Given the description of an element on the screen output the (x, y) to click on. 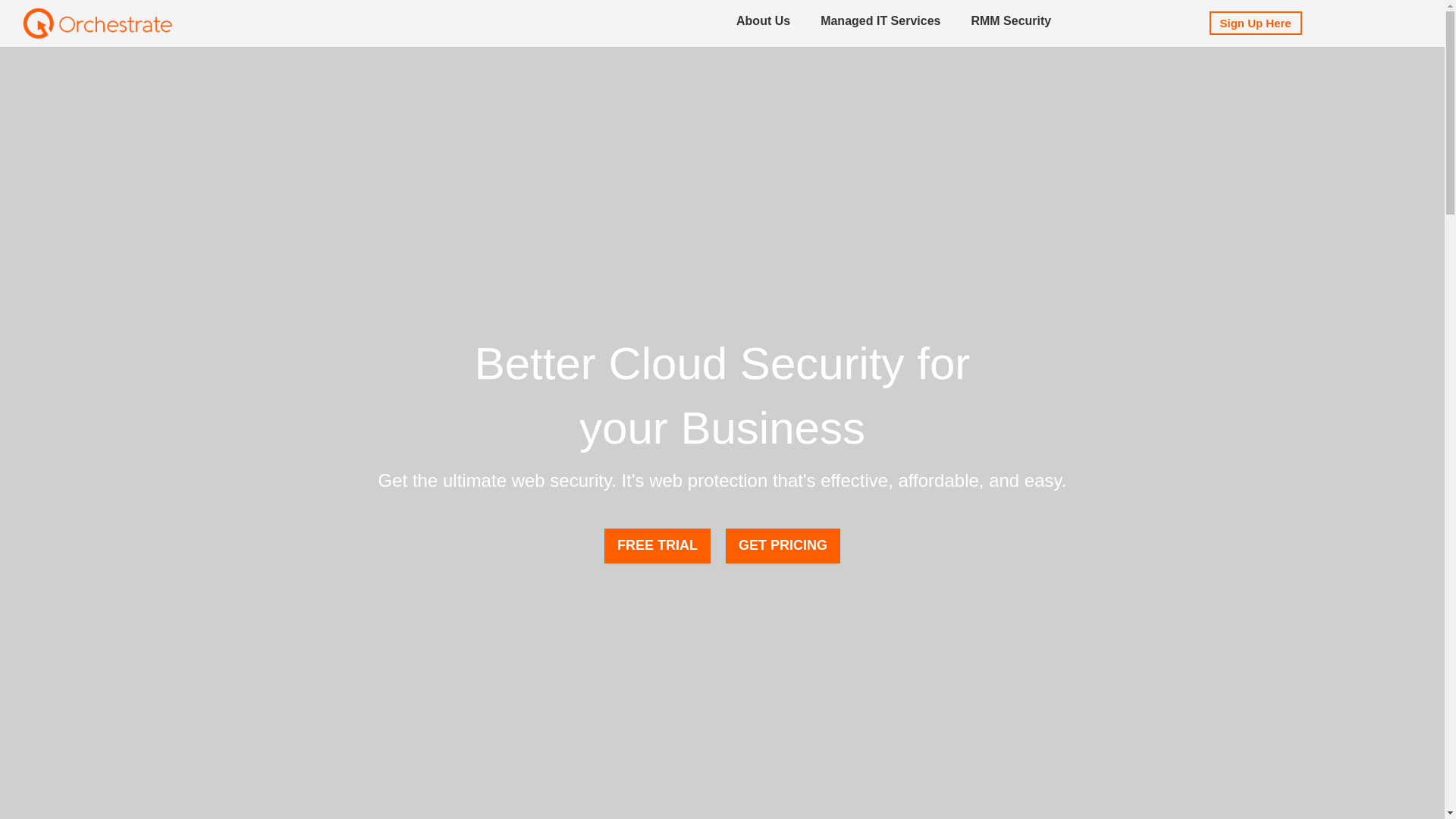
Sign Up Here (1255, 23)
RMM Security (1011, 23)
FREE TRIAL (657, 545)
GET PRICING (782, 545)
Managed IT Services (880, 23)
About Us (763, 23)
